Given the description of an element on the screen output the (x, y) to click on. 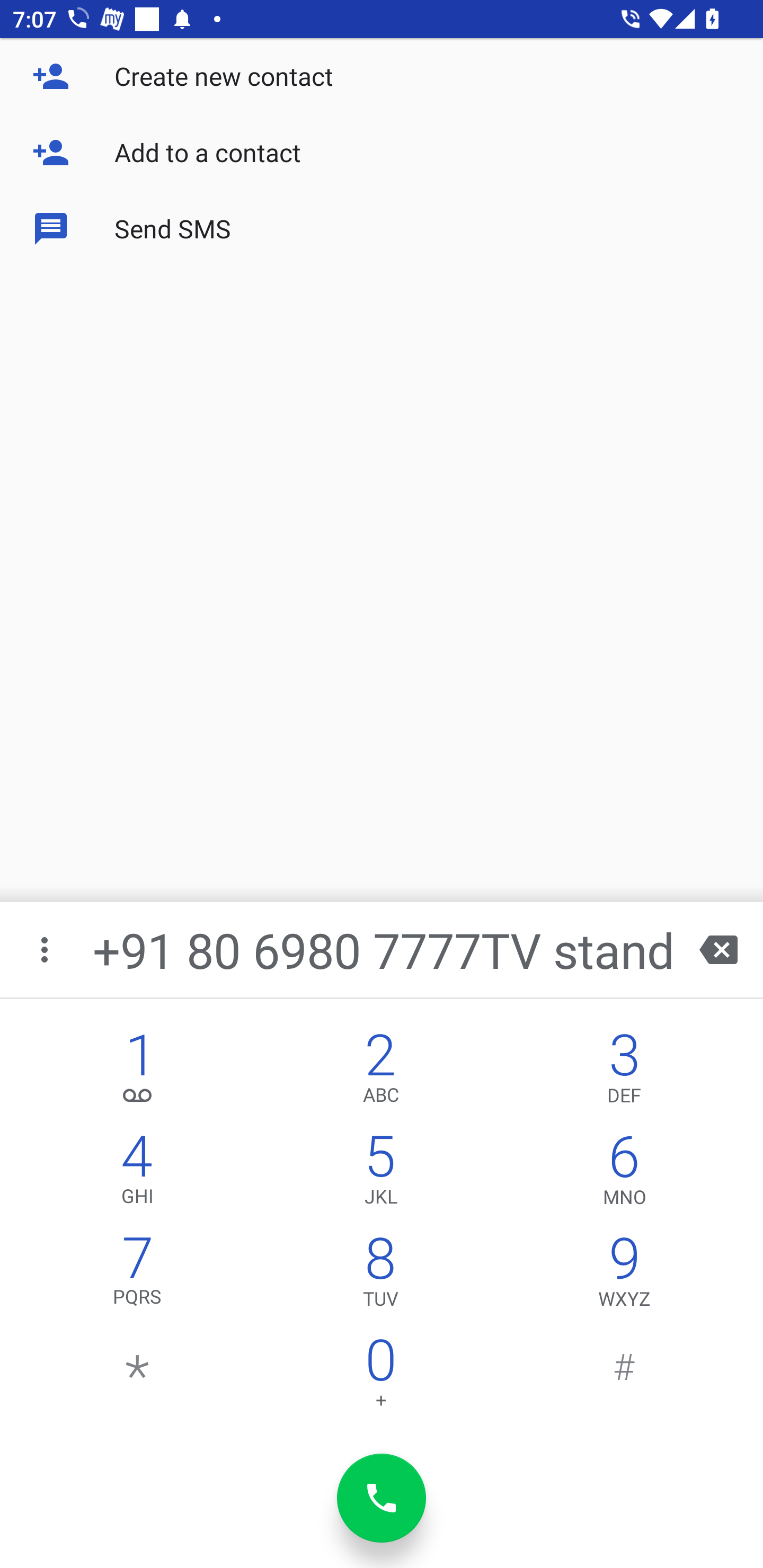
Create new contact (381, 75)
Add to a contact (381, 152)
Send SMS (381, 228)
+91 80 6980 7777TV stand (382, 949)
backspace (718, 949)
More options (45, 949)
1, 1 (137, 1071)
2,ABC 2 ABC (380, 1071)
3,DEF 3 DEF (624, 1071)
4,GHI 4 GHI (137, 1173)
5,JKL 5 JKL (380, 1173)
6,MNO 6 MNO (624, 1173)
7,PQRS 7 PQRS (137, 1275)
8,TUV 8 TUV (380, 1275)
9,WXYZ 9 WXYZ (624, 1275)
* (137, 1377)
0 0 + (380, 1377)
# (624, 1377)
dial (381, 1497)
